Given the description of an element on the screen output the (x, y) to click on. 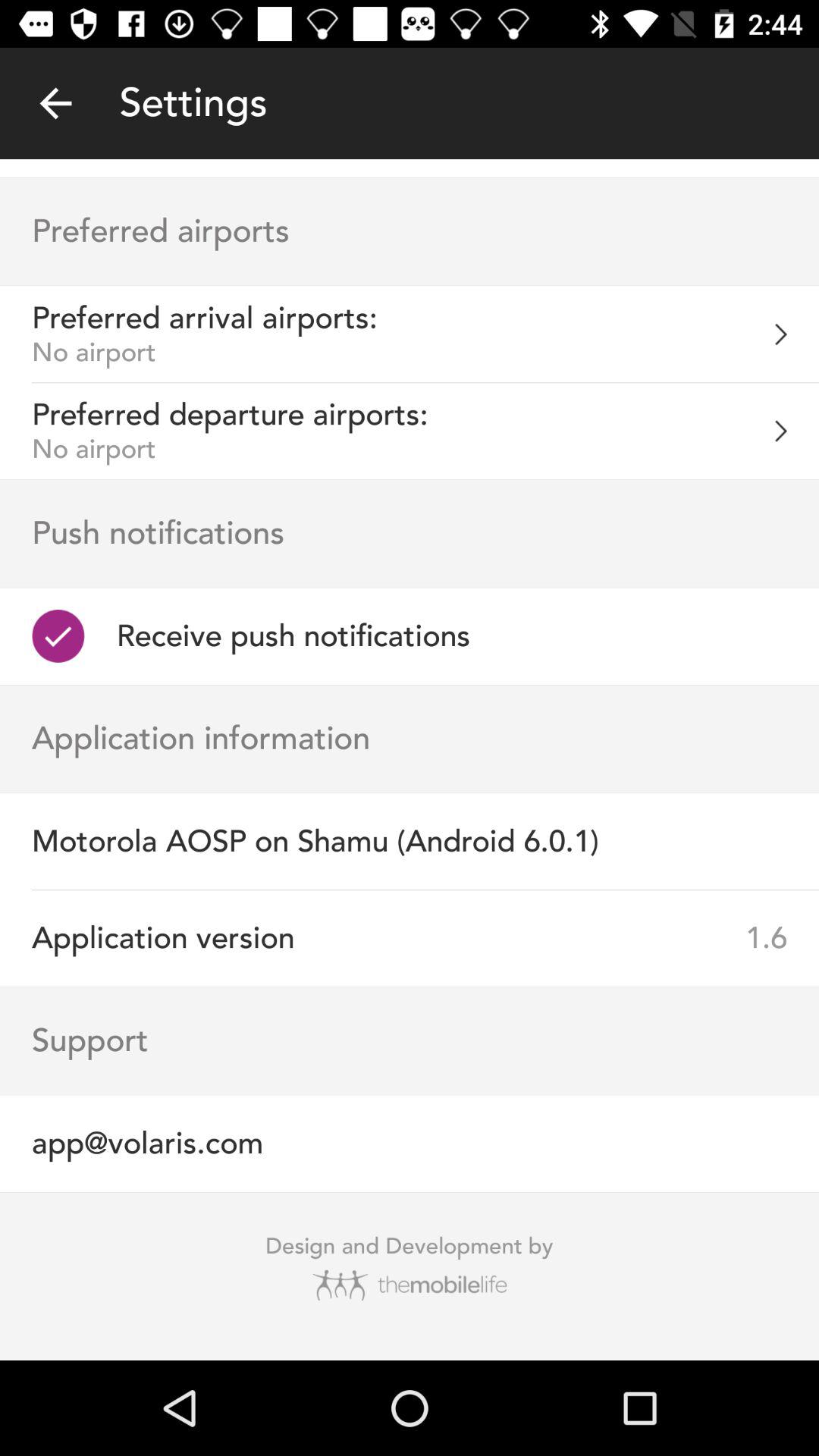
click on the symbol which is right hand side of the text preferred departure airports (796, 431)
